Given the description of an element on the screen output the (x, y) to click on. 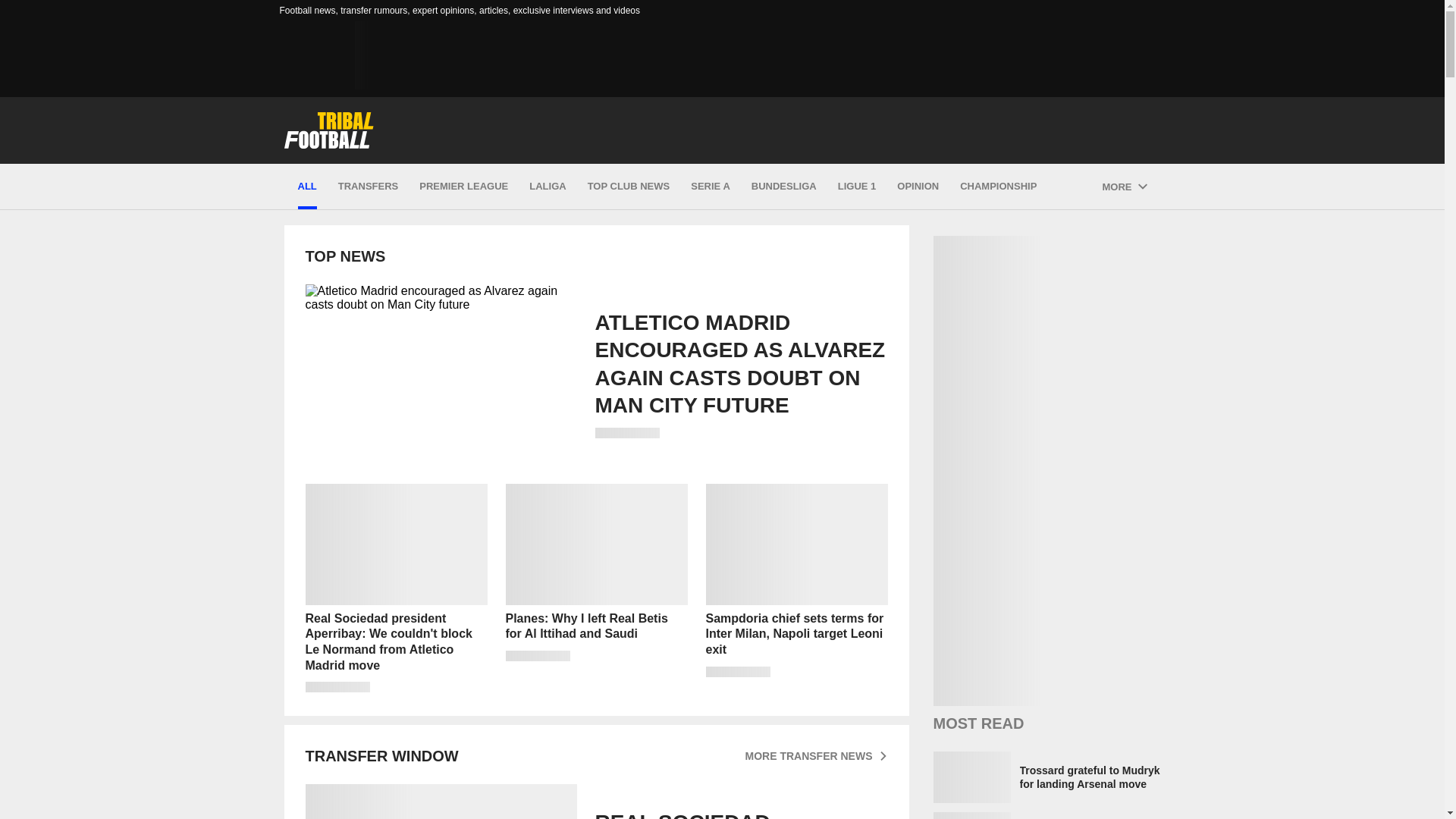
PREMIER LEAGUE (463, 186)
TOP CLUB NEWS (628, 186)
MORE TRANSFER NEWS (815, 755)
MORE (1124, 186)
TRANSFERS (367, 186)
BUNDESLIGA (783, 186)
CHAMPIONSHIP (997, 186)
OPINION (917, 186)
